Given the description of an element on the screen output the (x, y) to click on. 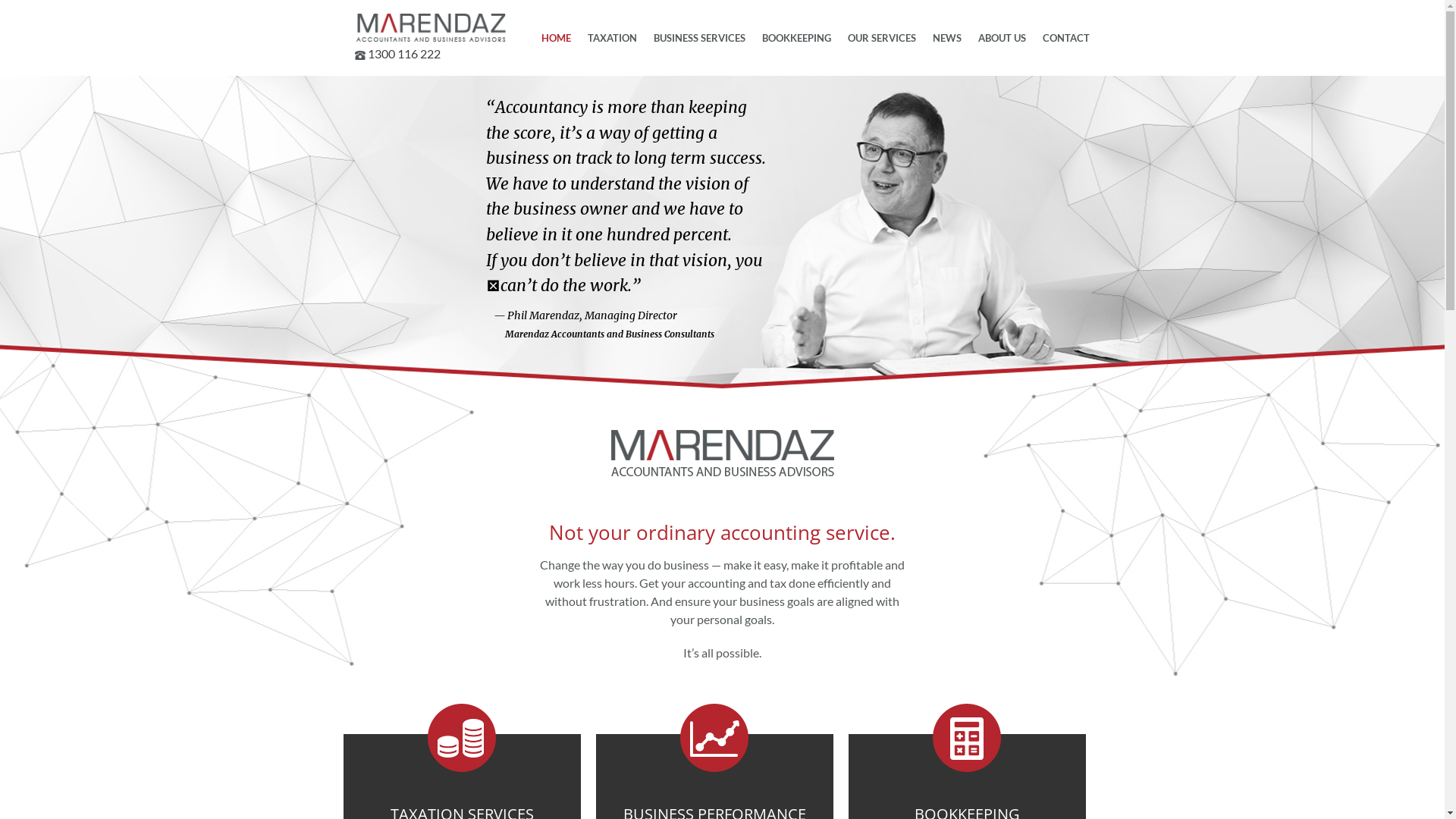
TAXATION Element type: text (611, 37)
OUR SERVICES Element type: text (881, 37)
CONTACT Element type: text (1065, 37)
BUSINESS SERVICES Element type: text (698, 37)
BOOKKEEPING Element type: text (796, 37)
ABOUT US Element type: text (1001, 37)
HOME Element type: text (555, 37)
NEWS Element type: text (946, 37)
